Given the description of an element on the screen output the (x, y) to click on. 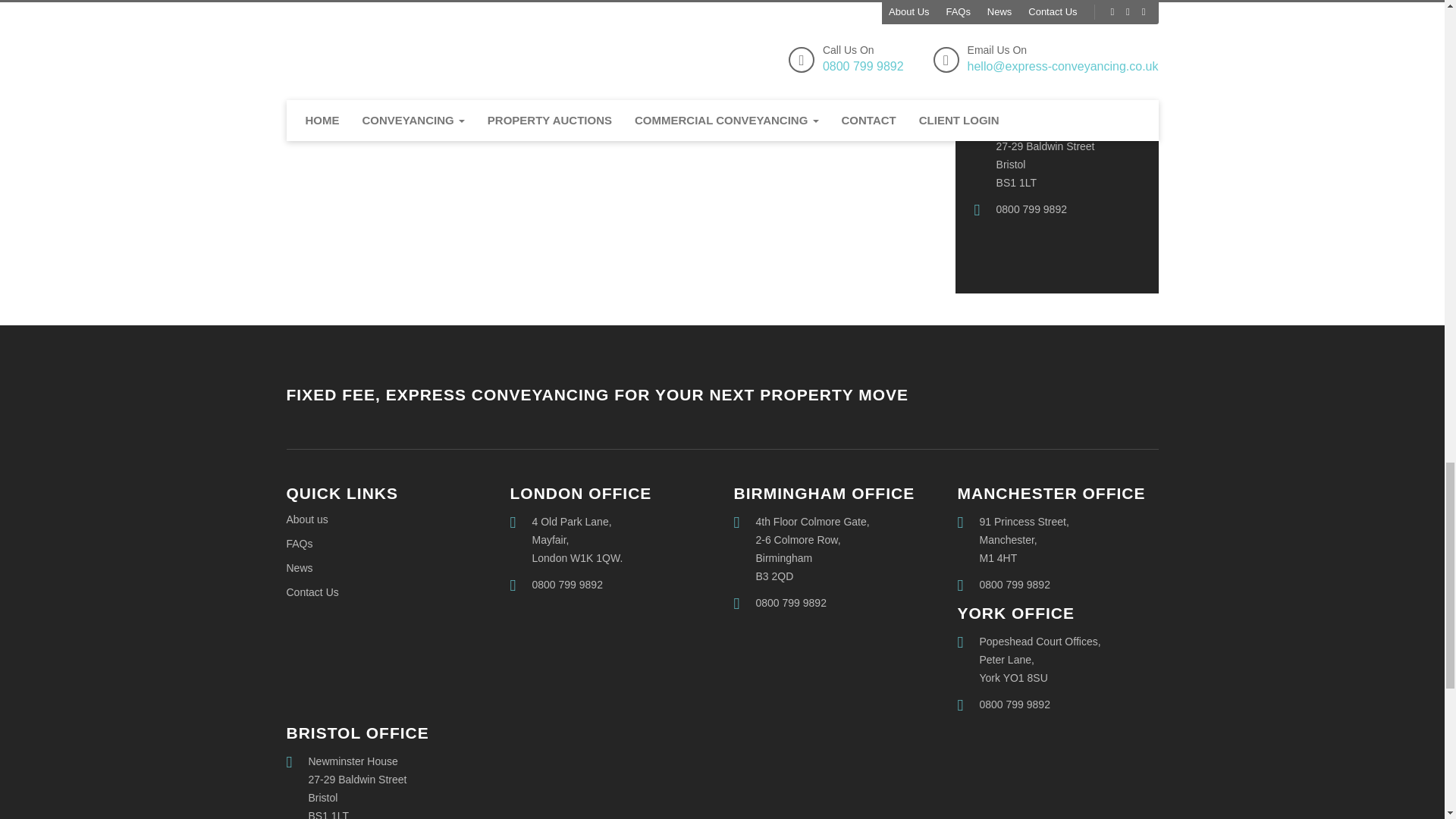
FAQs (299, 543)
About us (307, 519)
